Given the description of an element on the screen output the (x, y) to click on. 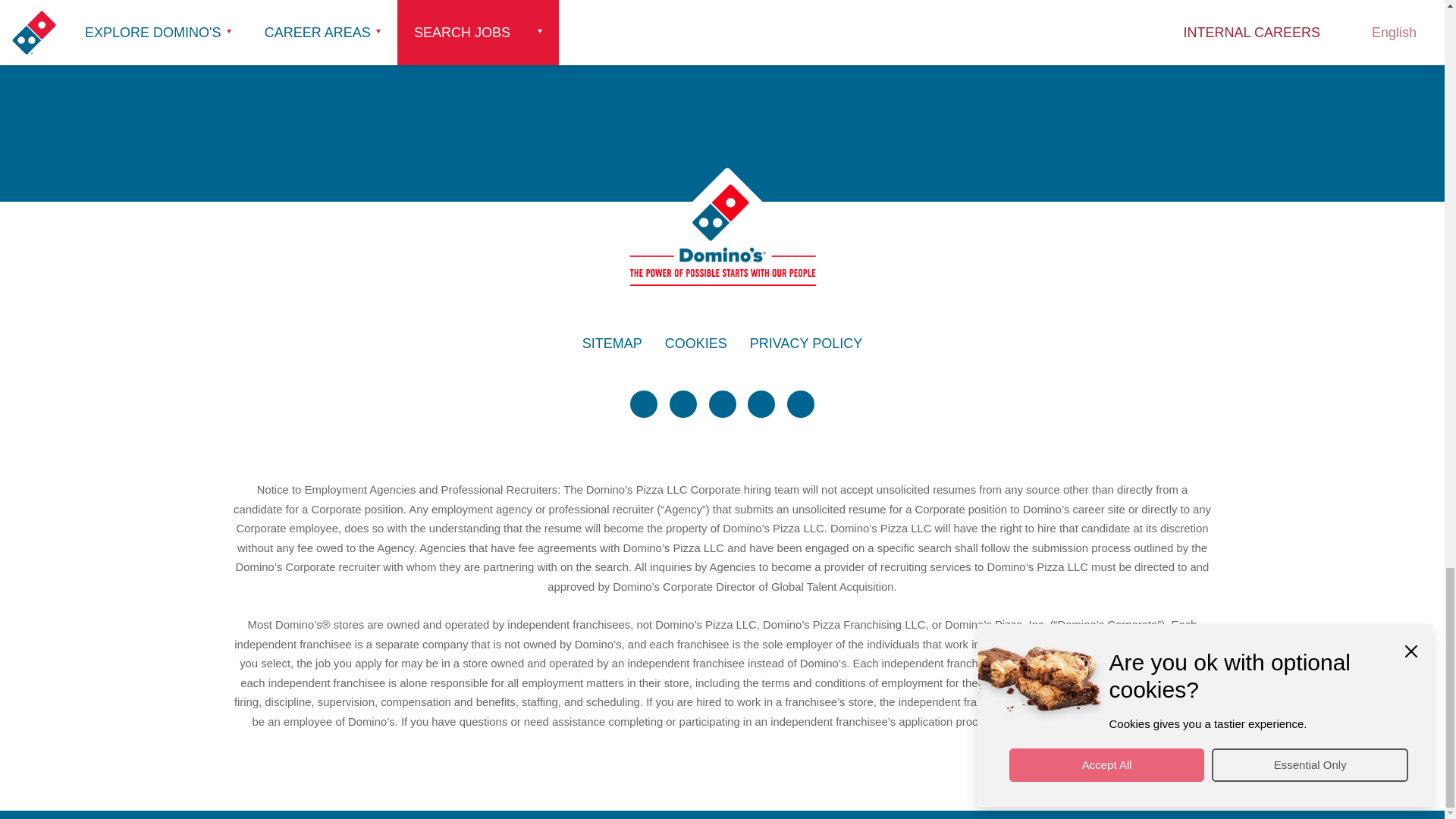
YouTube (761, 403)
PRIVACY POLICY (805, 343)
Facebook (683, 403)
Glassdoor (800, 403)
SITEMAP (612, 343)
COOKIES (695, 343)
Twitter (644, 403)
LinkedIn (721, 403)
